Given the description of an element on the screen output the (x, y) to click on. 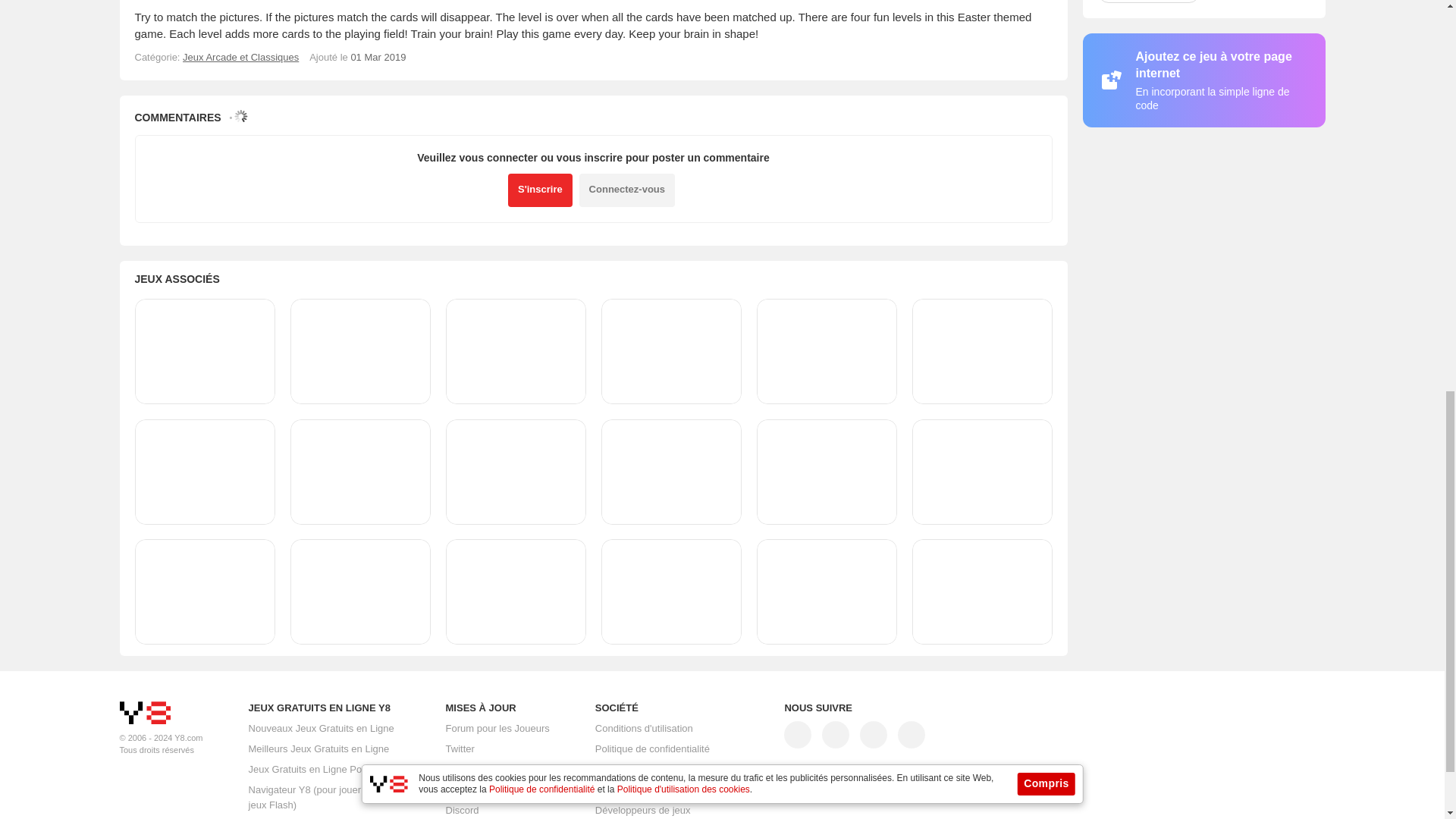
Politique d'utilisation des cookies (667, 769)
Conditions d'utilisation (644, 728)
